Given the description of an element on the screen output the (x, y) to click on. 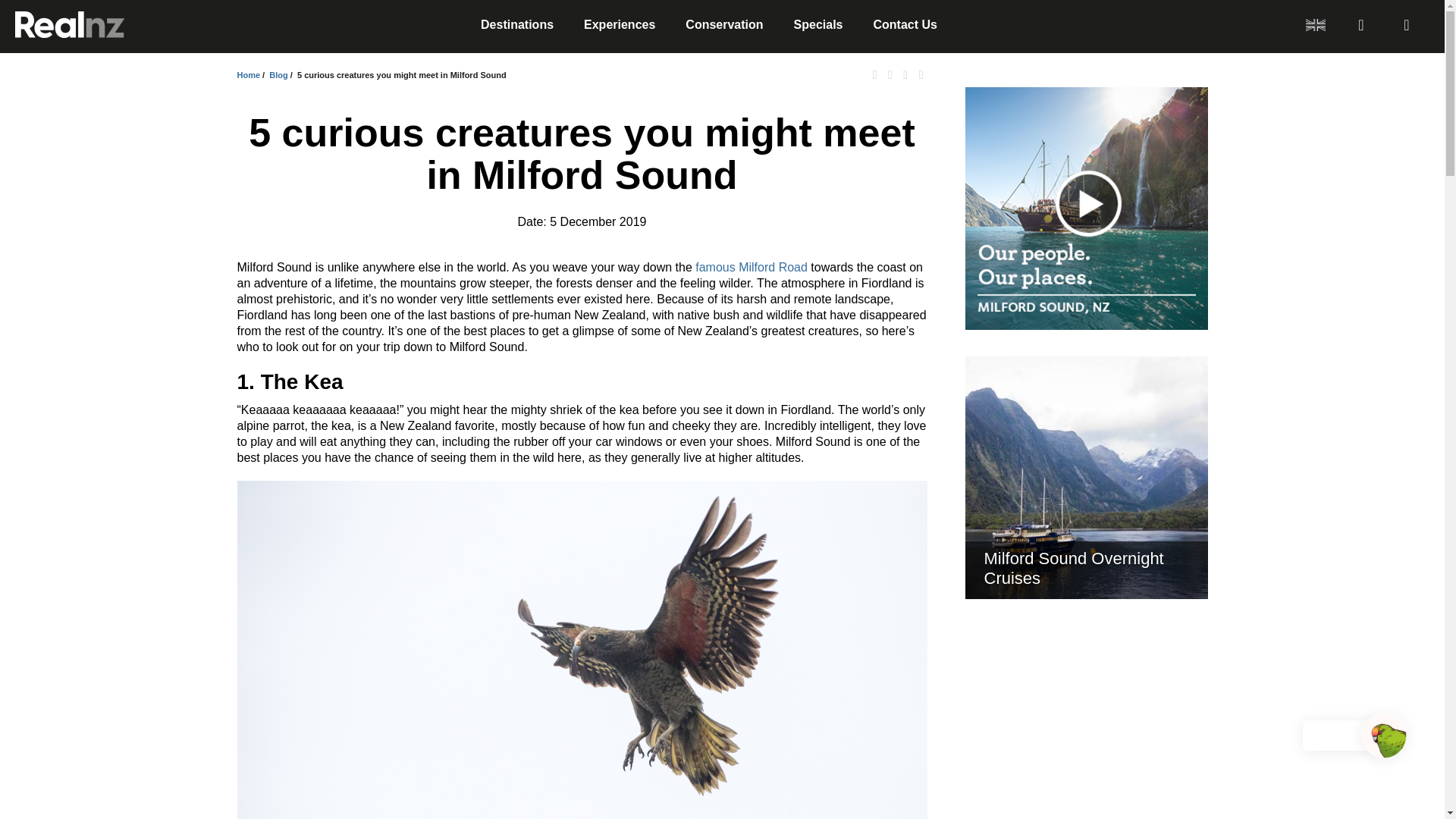
Experiences (619, 23)
RealNZ (69, 23)
Conservation (723, 23)
The famous Milford Road (751, 267)
Destinations (516, 23)
